Given the description of an element on the screen output the (x, y) to click on. 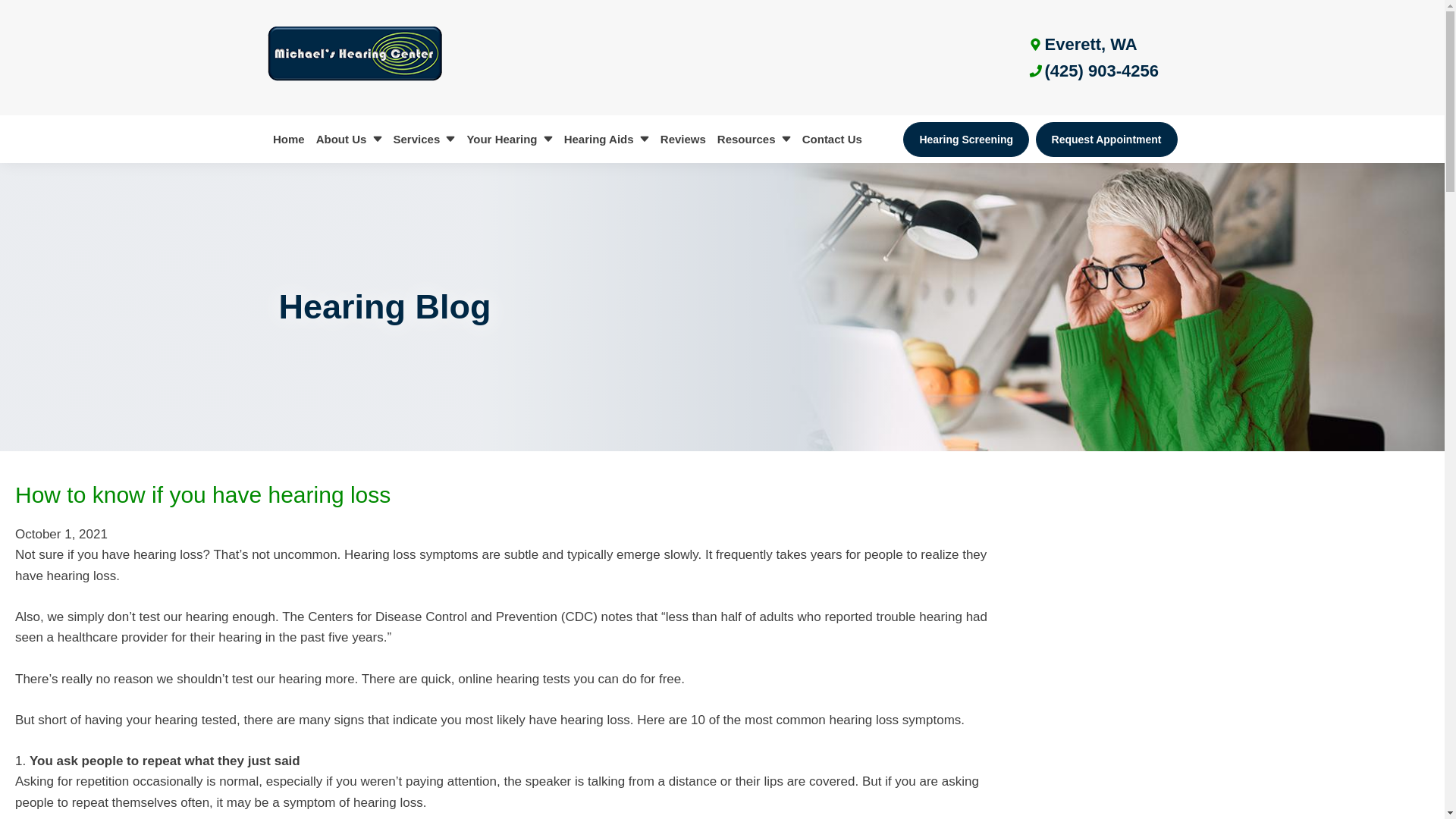
Home (288, 138)
Your Hearing (509, 138)
Everett, WA (1081, 44)
Services (424, 138)
About Us (348, 138)
Reviews (682, 138)
Resources (753, 138)
Hearing Aids (605, 138)
